Given the description of an element on the screen output the (x, y) to click on. 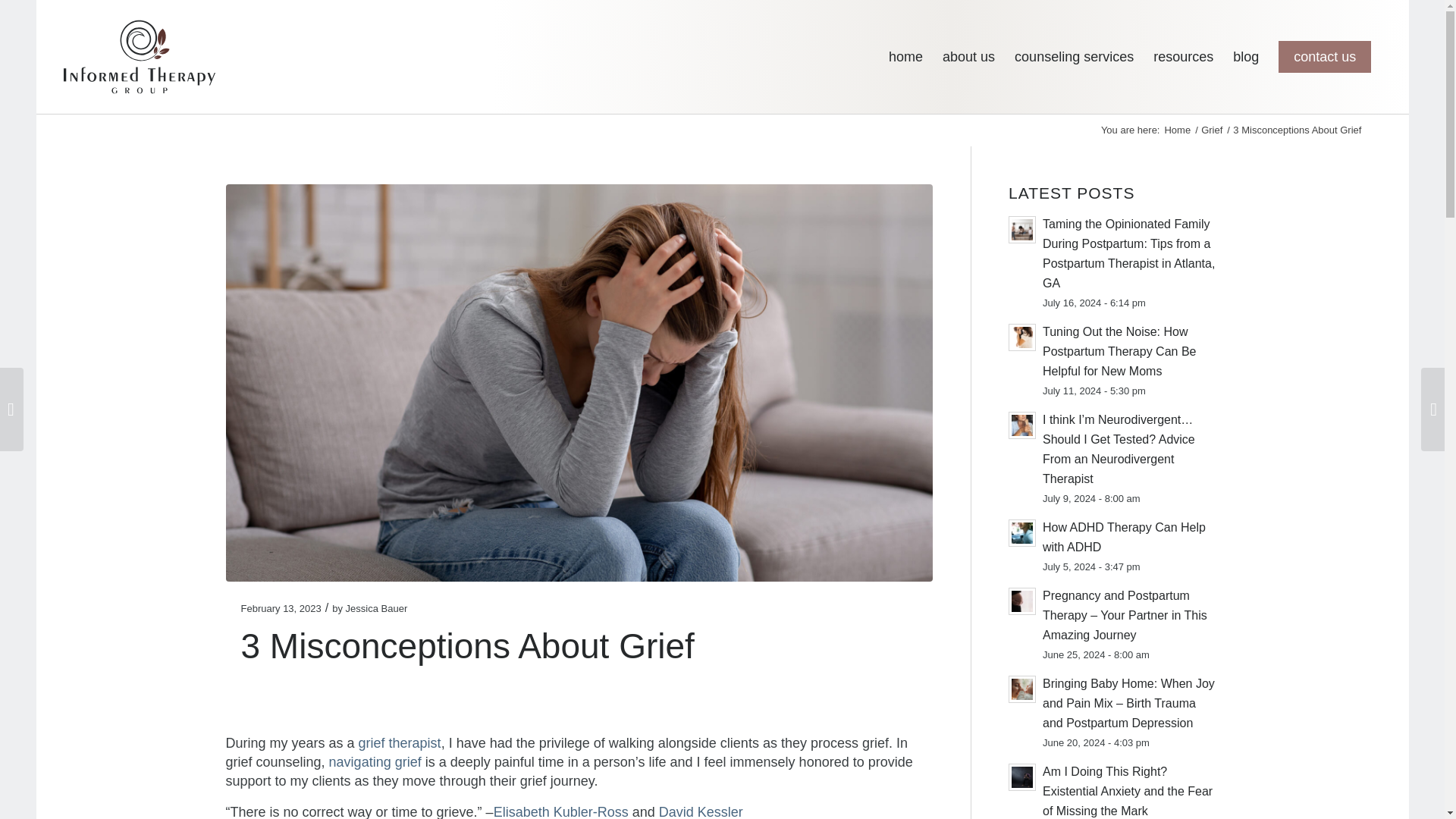
Posts by Jessica Bauer (376, 608)
grief therapist (399, 743)
counseling services (1073, 56)
David Kessler (700, 811)
Grief (1211, 129)
Elisabeth Kubler-Ross (560, 811)
Home (1176, 129)
Jessica Bauer (376, 608)
Informed Therapy Group (1176, 129)
navigating grief (375, 761)
